Given the description of an element on the screen output the (x, y) to click on. 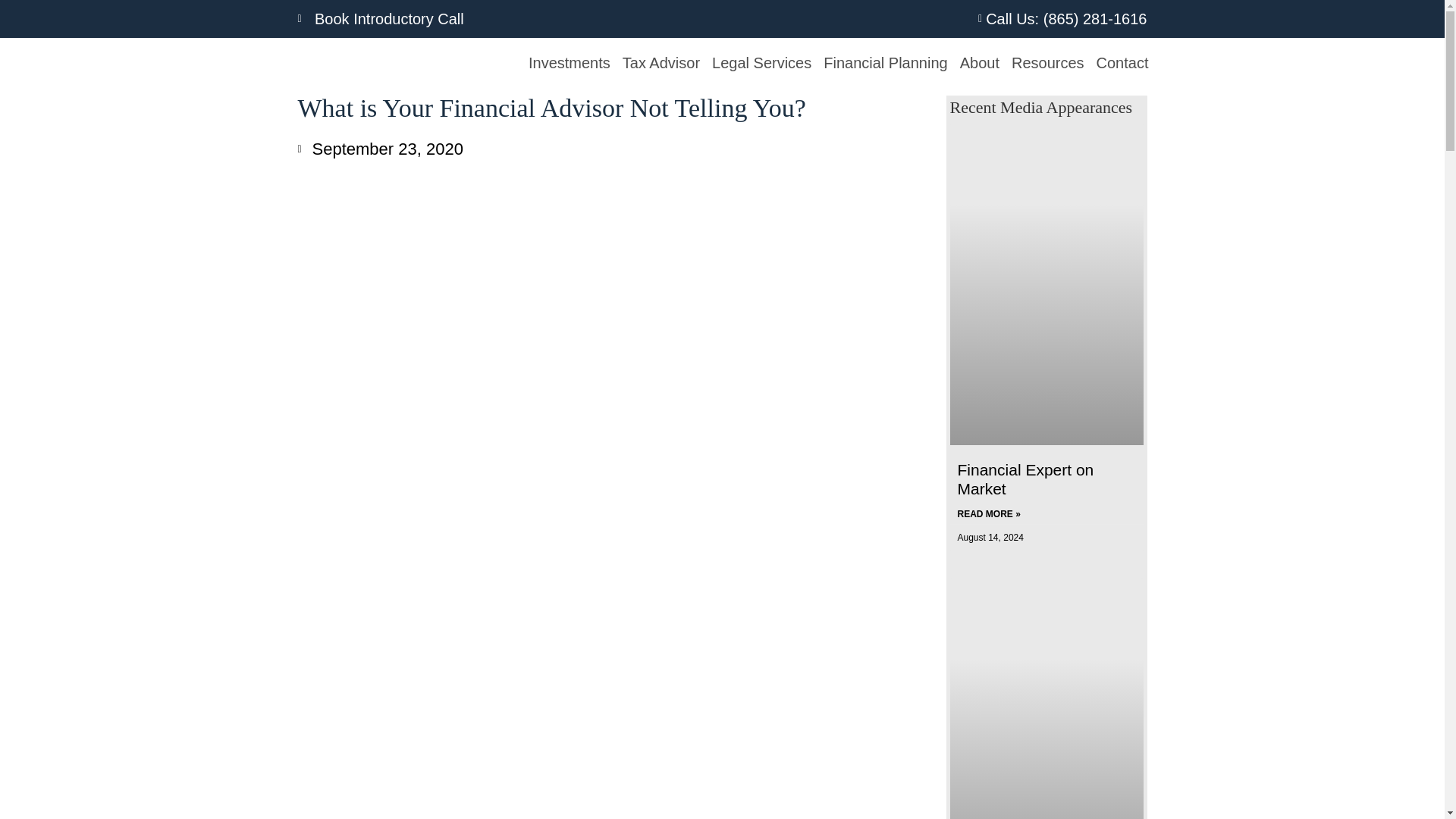
Financial Planning (884, 62)
Book Introductory Call (505, 18)
Investments (568, 62)
Legal Services (761, 62)
Tax Advisor (660, 62)
